Given the description of an element on the screen output the (x, y) to click on. 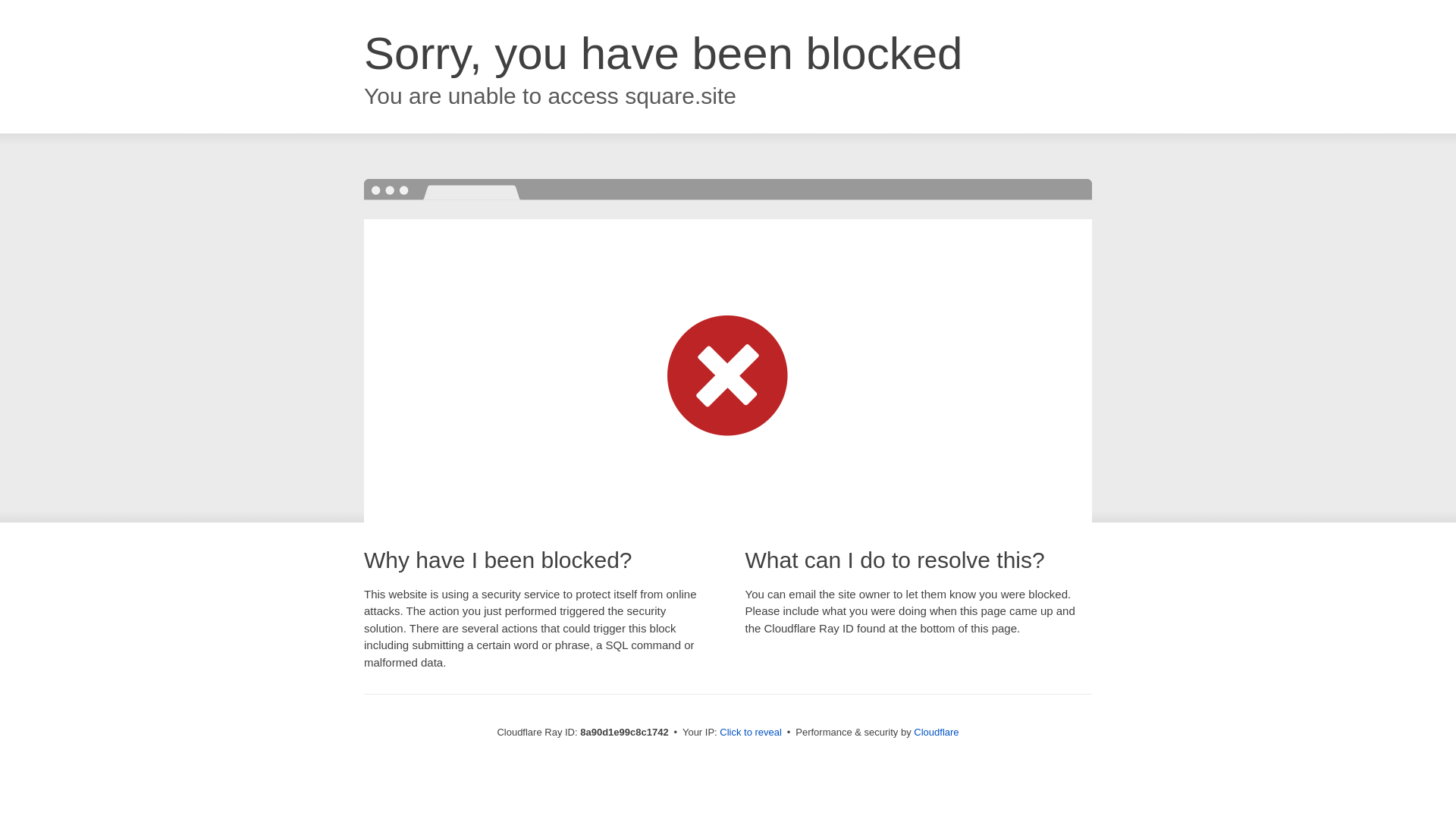
Cloudflare (936, 731)
Click to reveal (750, 732)
